Given the description of an element on the screen output the (x, y) to click on. 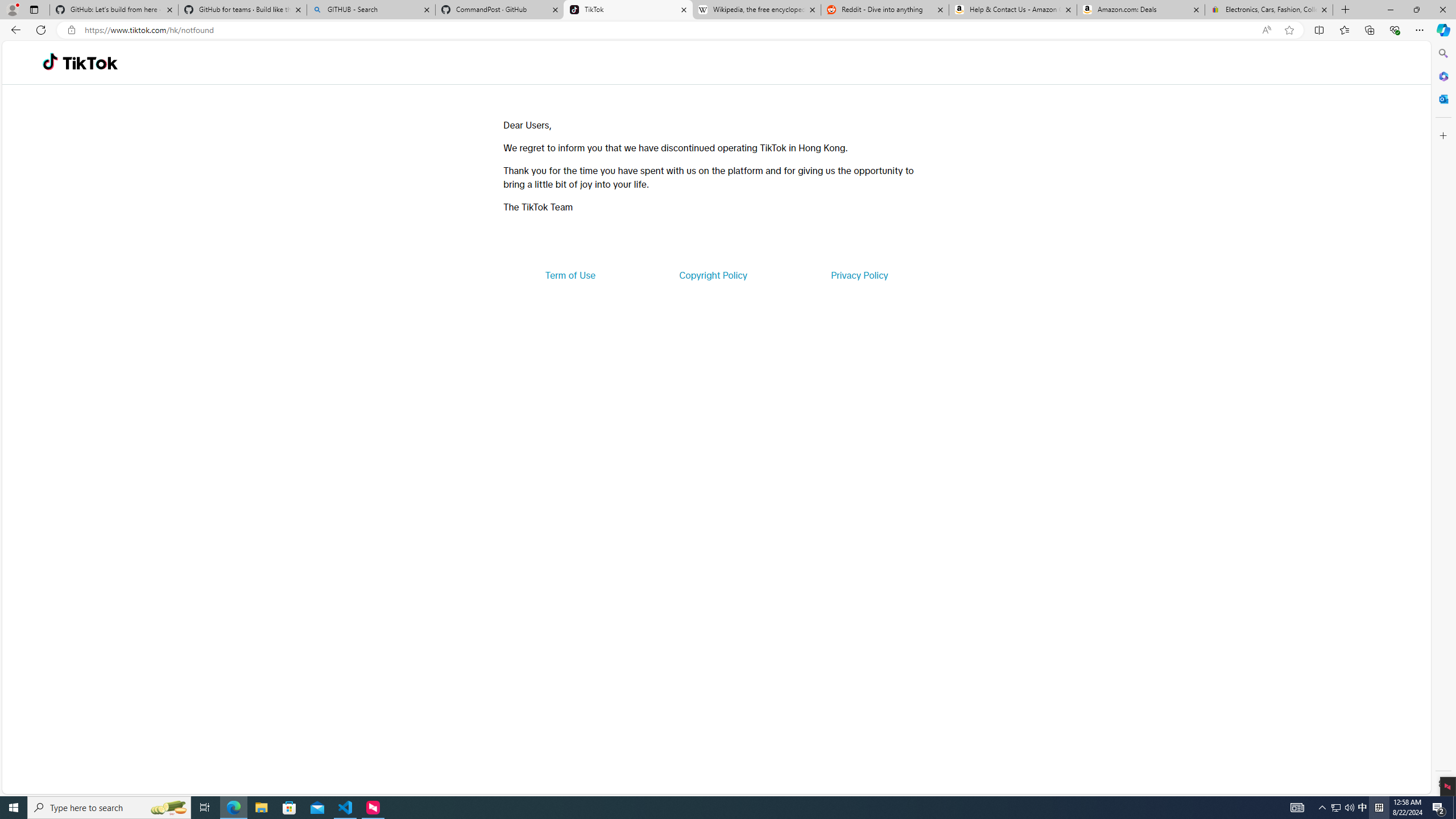
TikTok (628, 9)
Wikipedia, the free encyclopedia (756, 9)
